Given the description of an element on the screen output the (x, y) to click on. 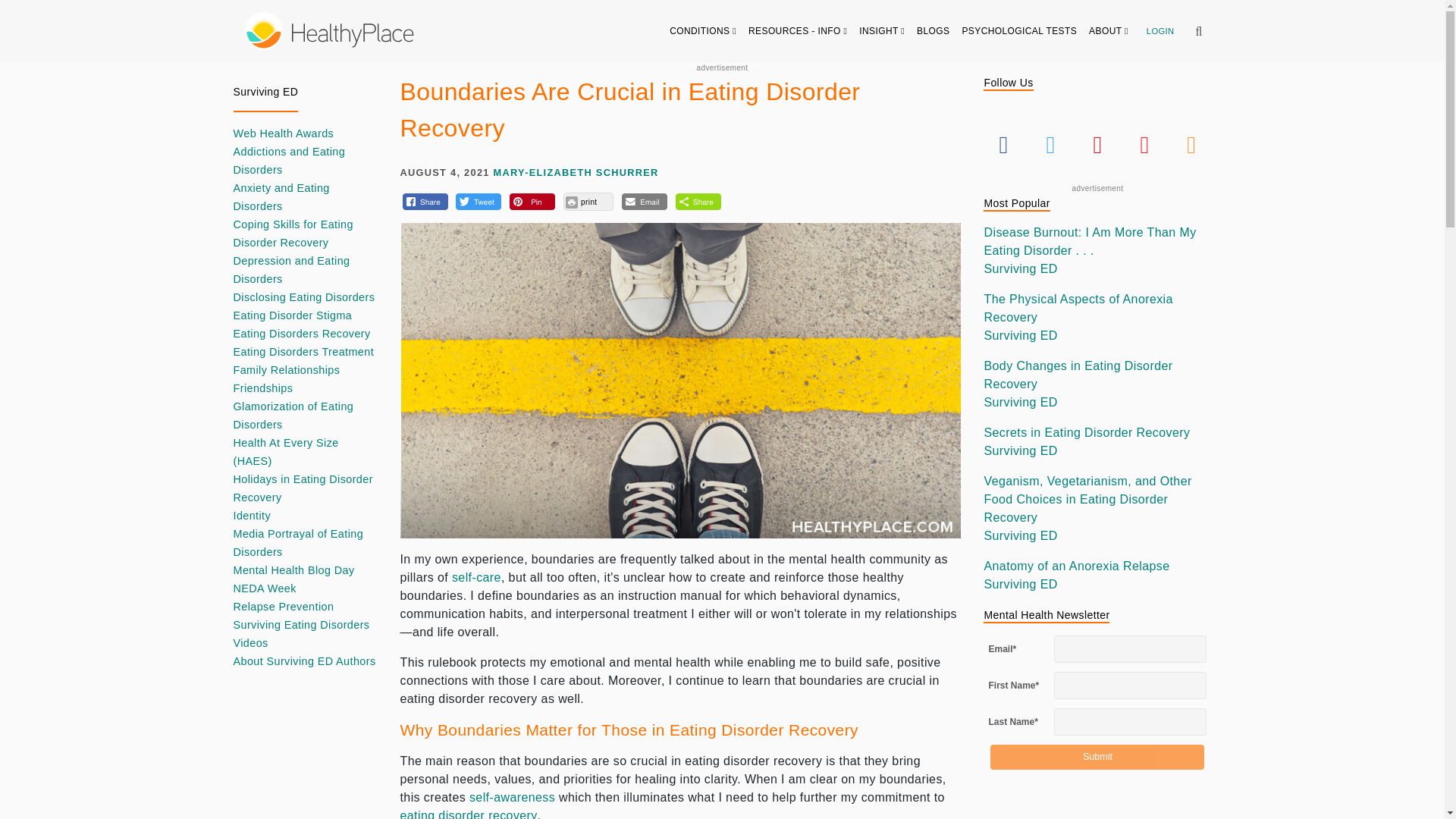
INSIGHT (882, 31)
What Does Eating Disorder Recovery Look Like? (468, 814)
RESOURCES - INFO (797, 31)
CONDITIONS (702, 31)
Submit (1097, 756)
Self-Awareness Skills Help You Handle Triggers in Recovery (511, 797)
